Given the description of an element on the screen output the (x, y) to click on. 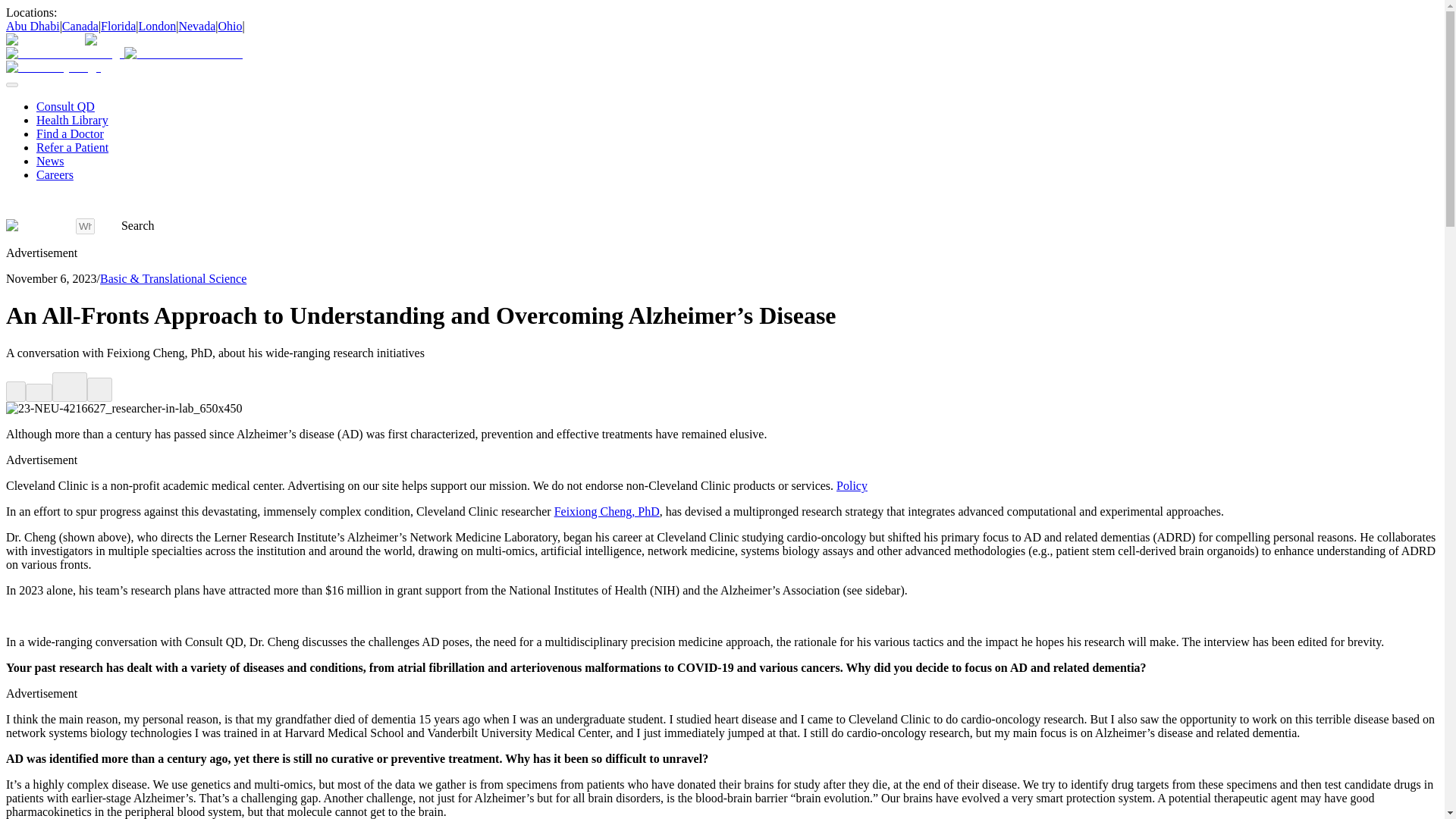
Abu Dhabi (32, 25)
Refer a Patient (71, 146)
Policy (851, 485)
Find a Doctor (69, 133)
Feixiong Cheng, PhD (606, 511)
News (50, 160)
Ohio (230, 25)
London (157, 25)
Health Library (71, 119)
Careers (55, 174)
